Given the description of an element on the screen output the (x, y) to click on. 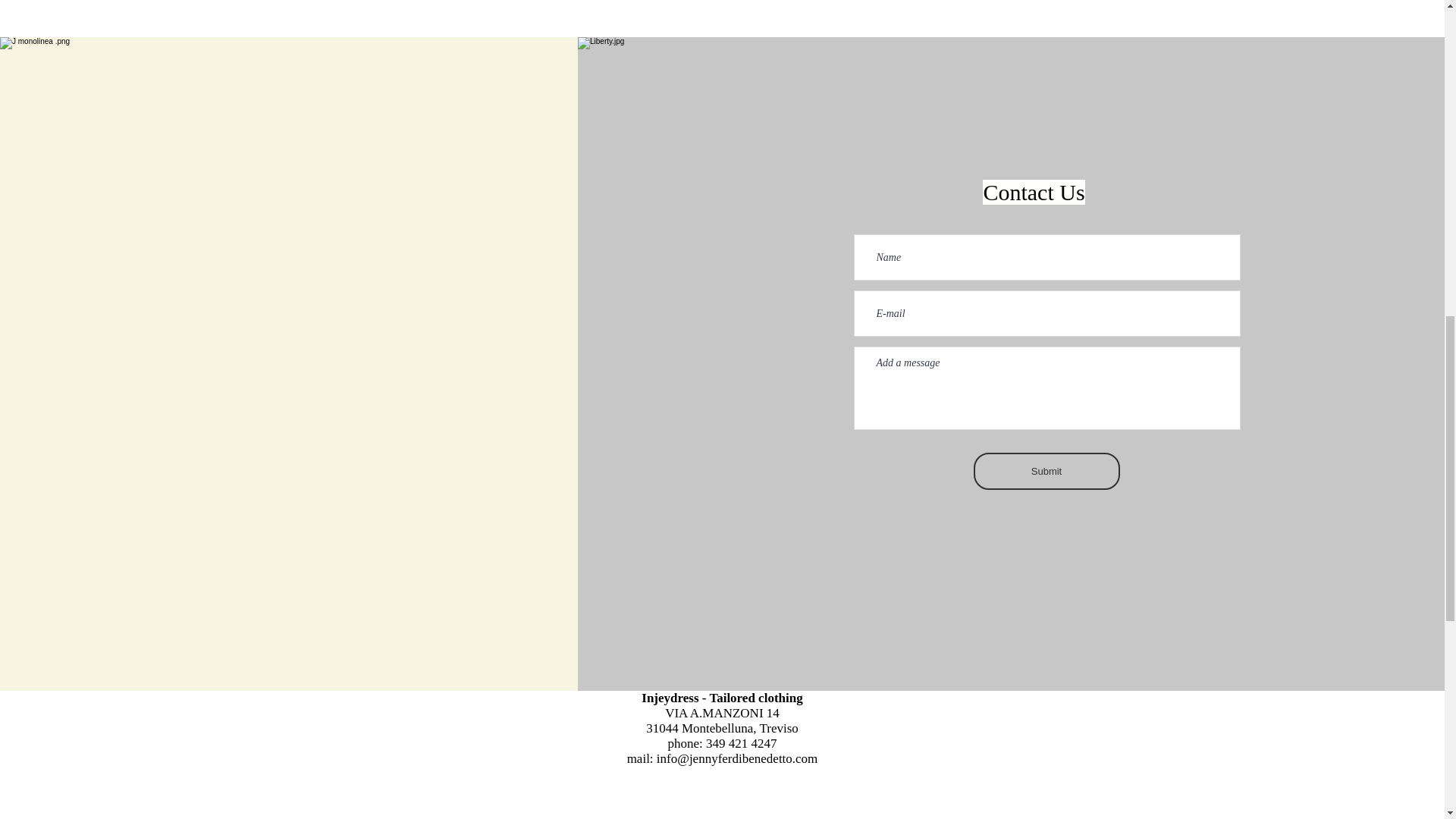
Submit (1046, 470)
